Given the description of an element on the screen output the (x, y) to click on. 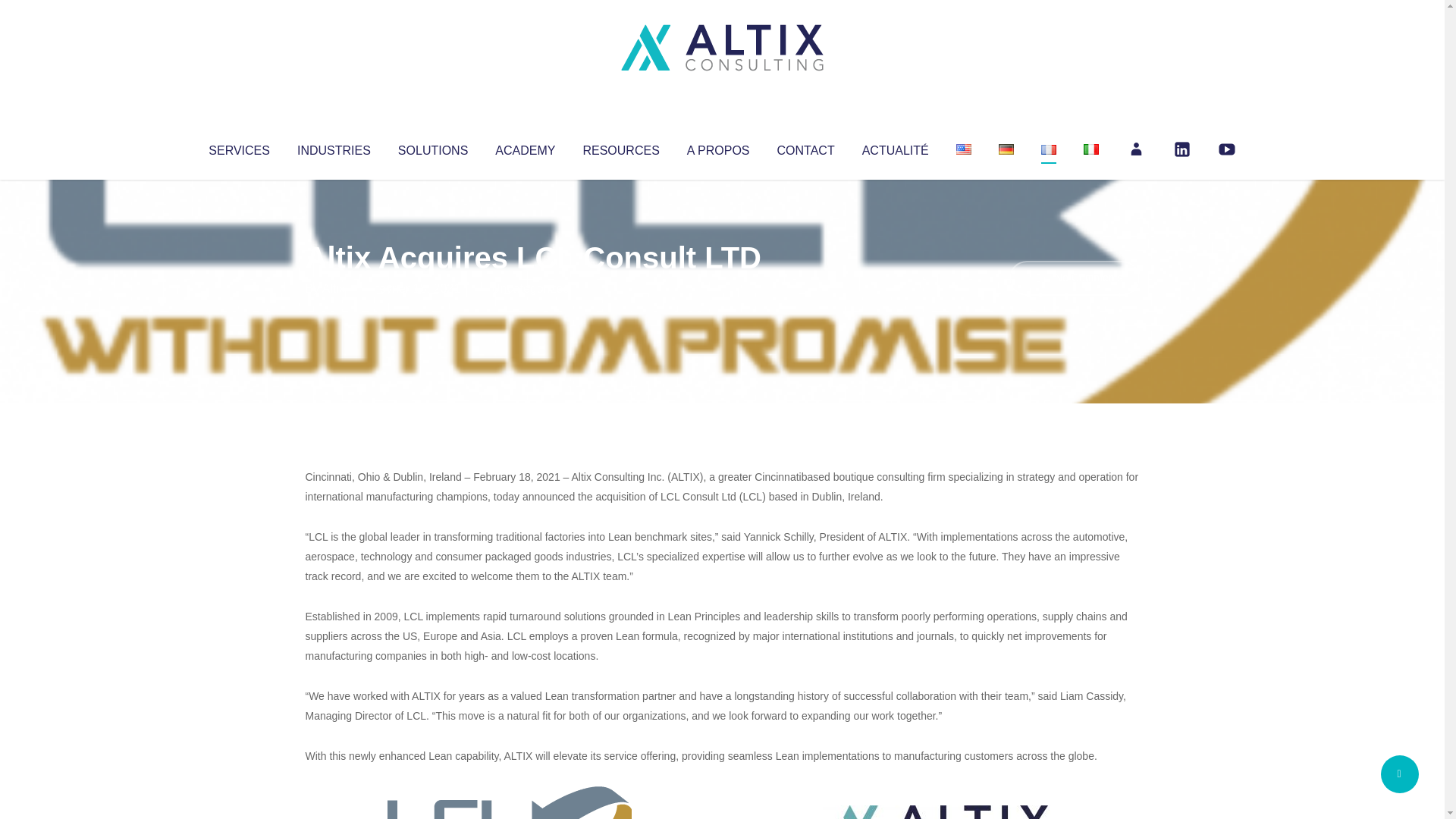
ACADEMY (524, 146)
RESOURCES (620, 146)
SOLUTIONS (432, 146)
Altix (333, 287)
A PROPOS (718, 146)
INDUSTRIES (334, 146)
No Comments (1073, 278)
SERVICES (238, 146)
Articles par Altix (333, 287)
Uncategorized (530, 287)
